Given the description of an element on the screen output the (x, y) to click on. 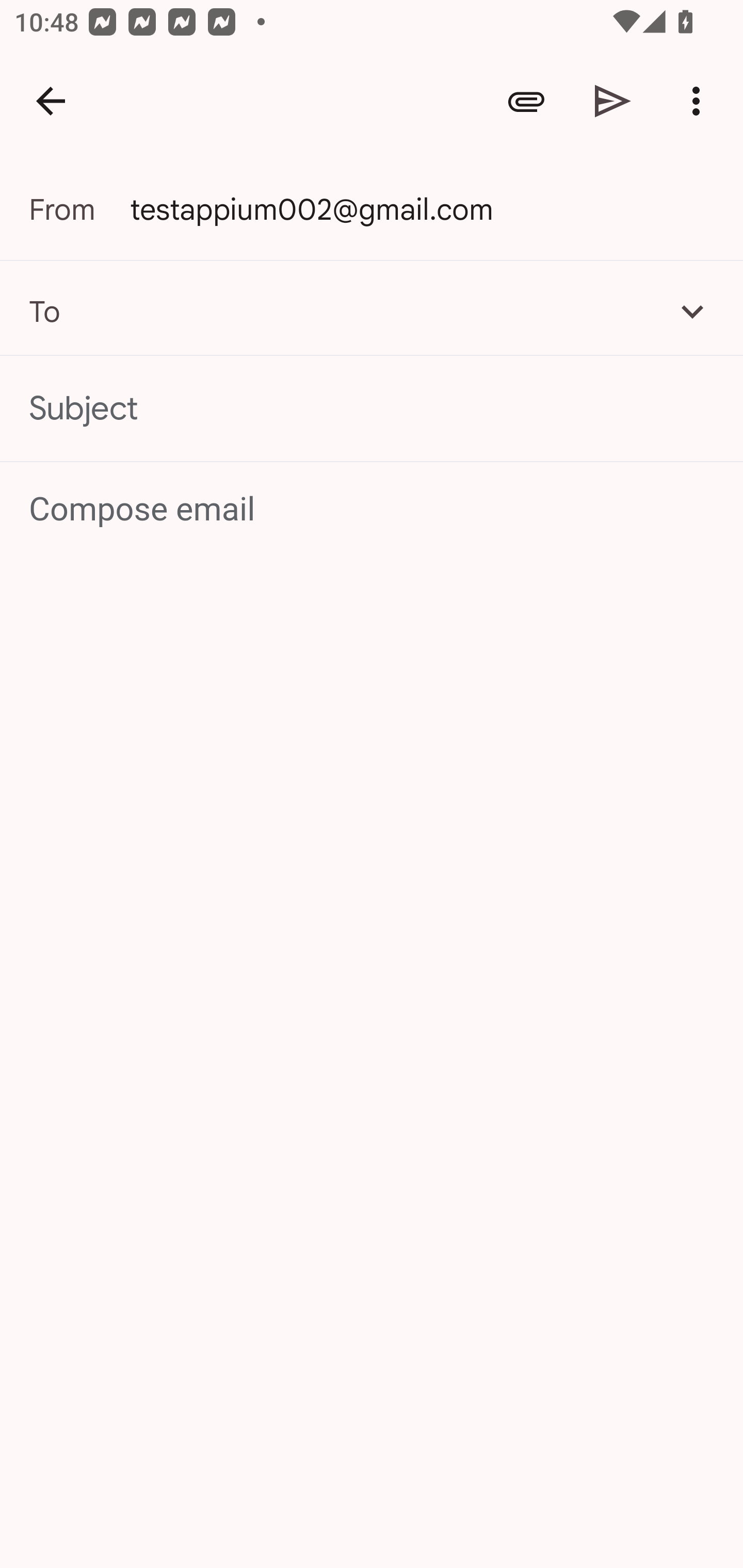
Navigate up (50, 101)
Attach file (525, 101)
Send (612, 101)
More options (699, 101)
From (79, 209)
Add Cc/Bcc (692, 311)
Subject (371, 407)
